Given the description of an element on the screen output the (x, y) to click on. 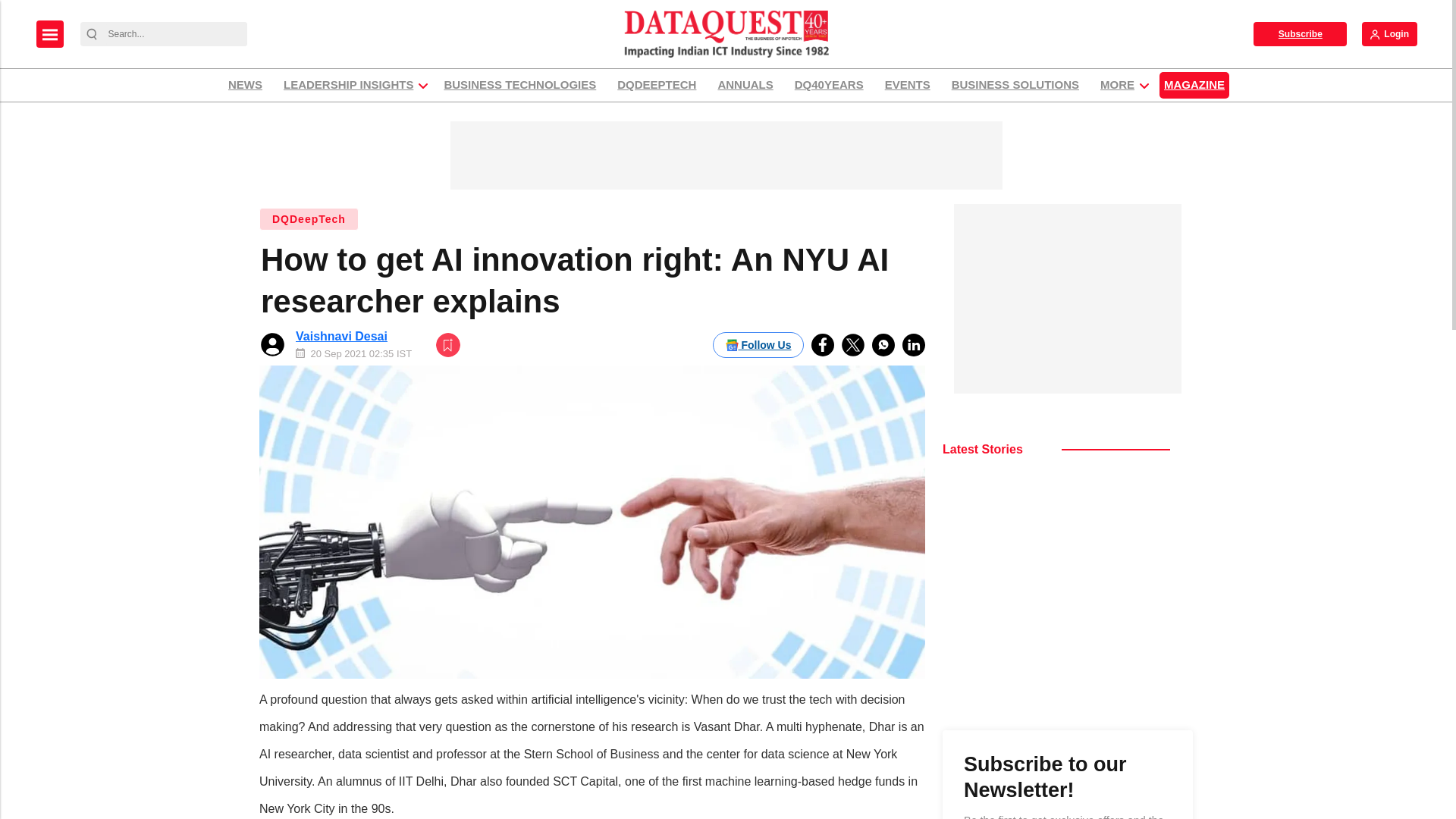
DQDEEPTECH (656, 84)
EVENTS (907, 84)
MAGAZINE (1193, 85)
Login (1388, 33)
Vaishnavi Desai (341, 336)
LEADERSHIP INSIGHTS (348, 84)
DQ40YEARS (829, 84)
BUSINESS TECHNOLOGIES (519, 84)
ANNUALS (744, 84)
DQDeepTech (308, 219)
